Given the description of an element on the screen output the (x, y) to click on. 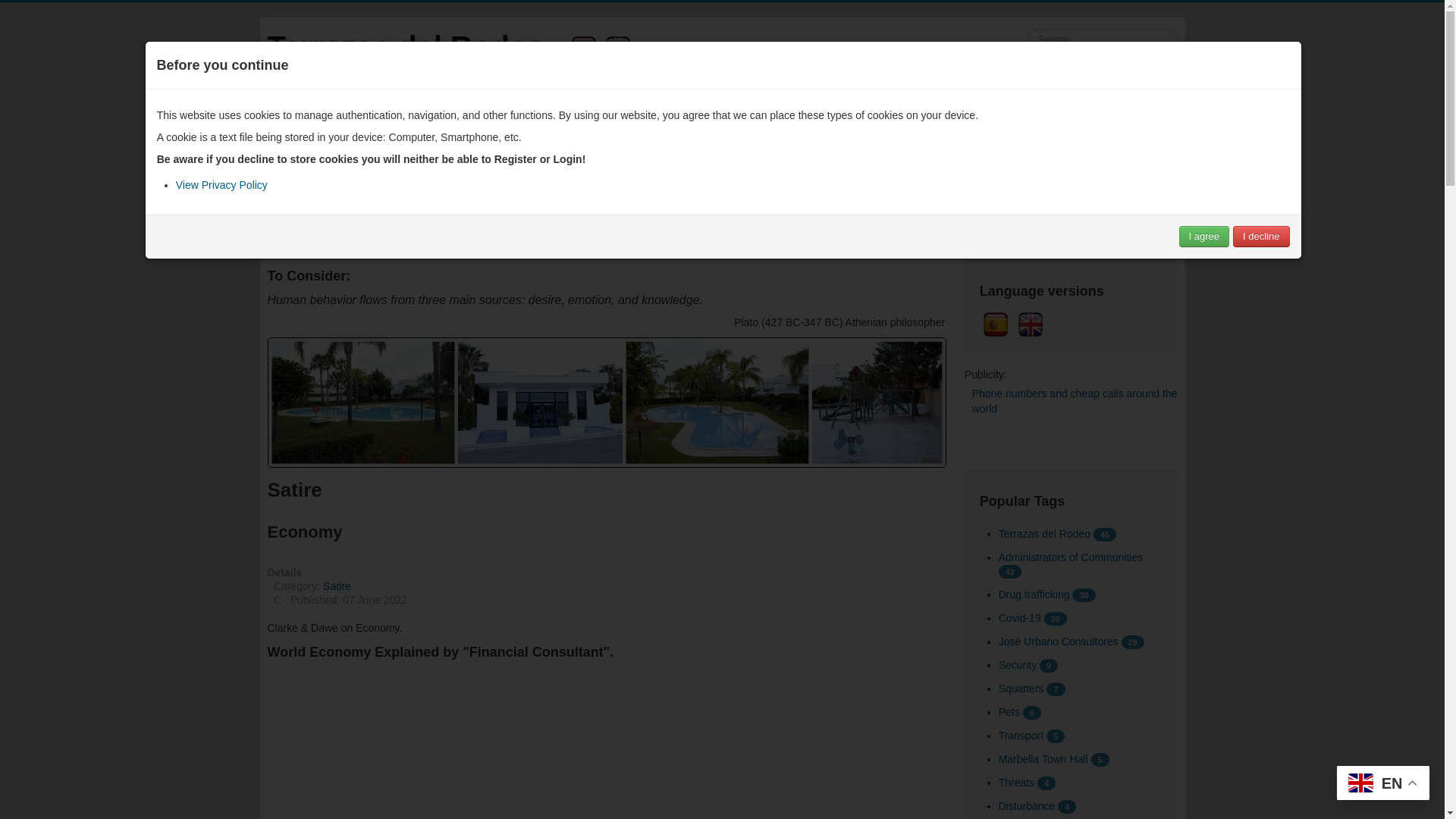
Terrazas del Rodeo (405, 46)
Facts (503, 116)
Welcome (346, 116)
News (400, 116)
Opinion (452, 116)
Home (289, 116)
JoomlaWorks AllVideos Player (605, 744)
Property To Rent (721, 215)
